Given the description of an element on the screen output the (x, y) to click on. 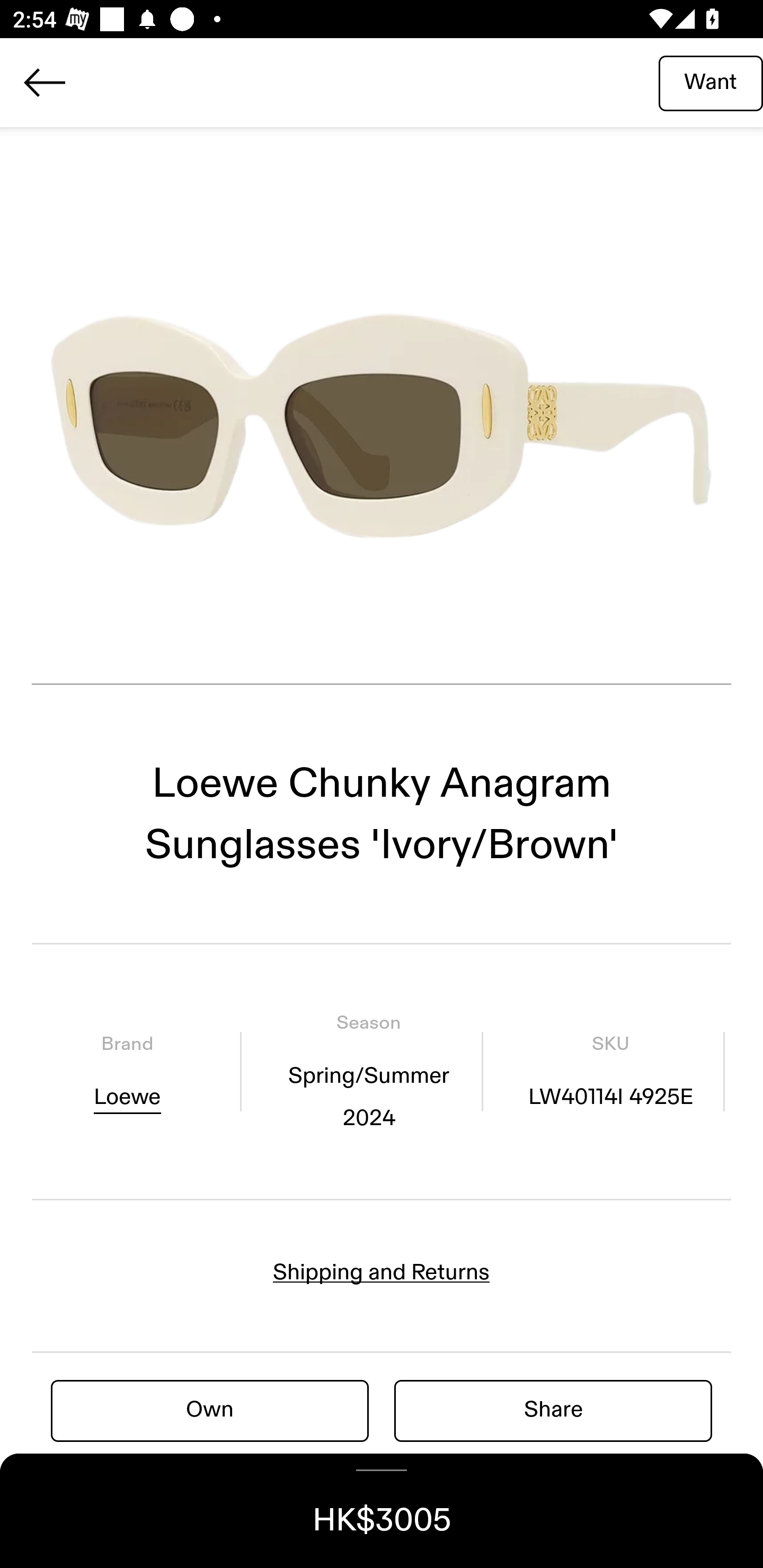
Want (710, 82)
Brand Loewe (126, 1070)
Season Spring/Summer 2024 (368, 1070)
SKU LW40114I 4925E (609, 1070)
Shipping and Returns (381, 1272)
Own (209, 1410)
Share (552, 1410)
HK$3005 (381, 1510)
